Given the description of an element on the screen output the (x, y) to click on. 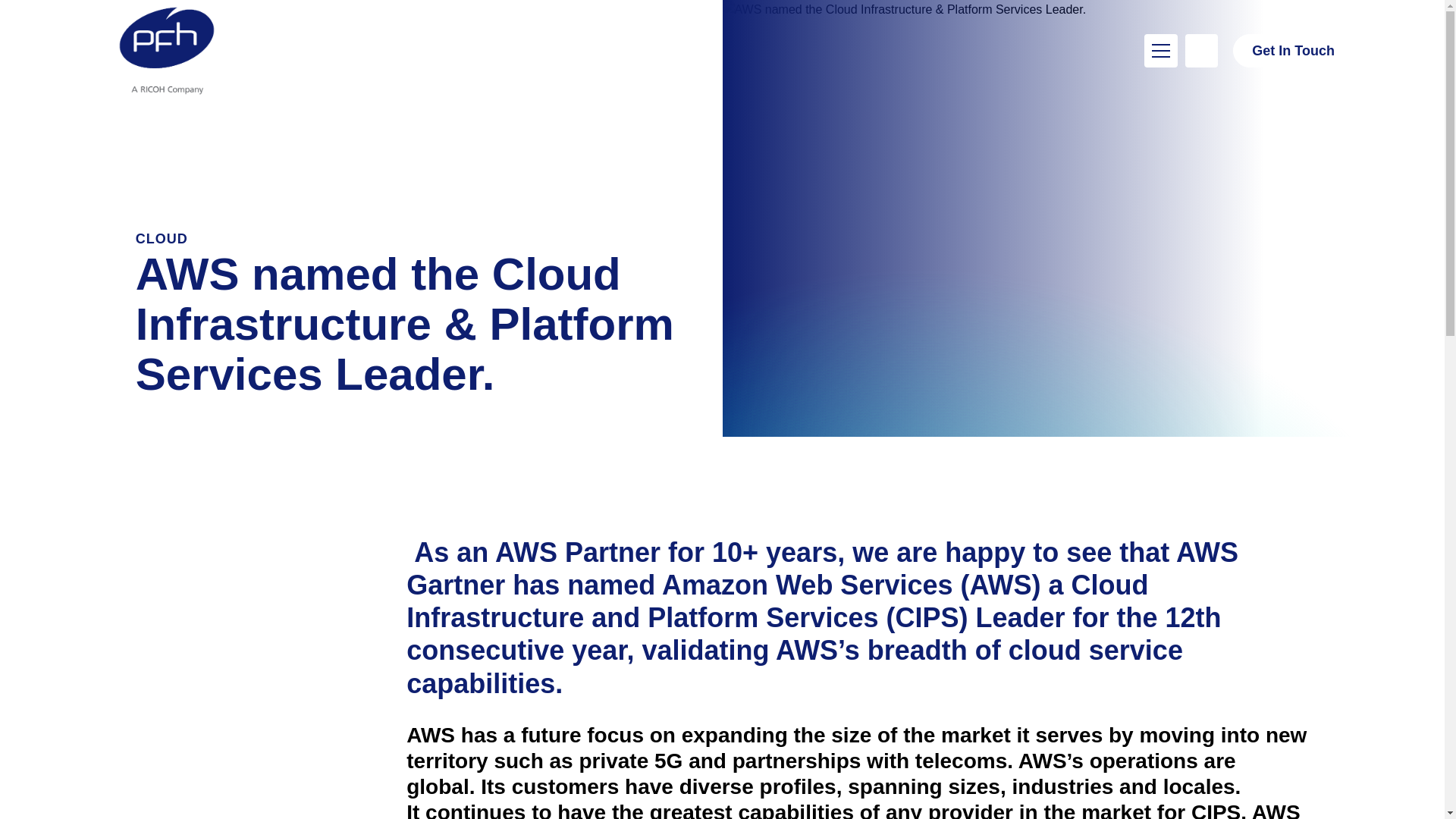
Get In Touch (1293, 50)
Get In Touch (1293, 50)
Search (1200, 49)
PFH Technology Group (166, 50)
